Given the description of an element on the screen output the (x, y) to click on. 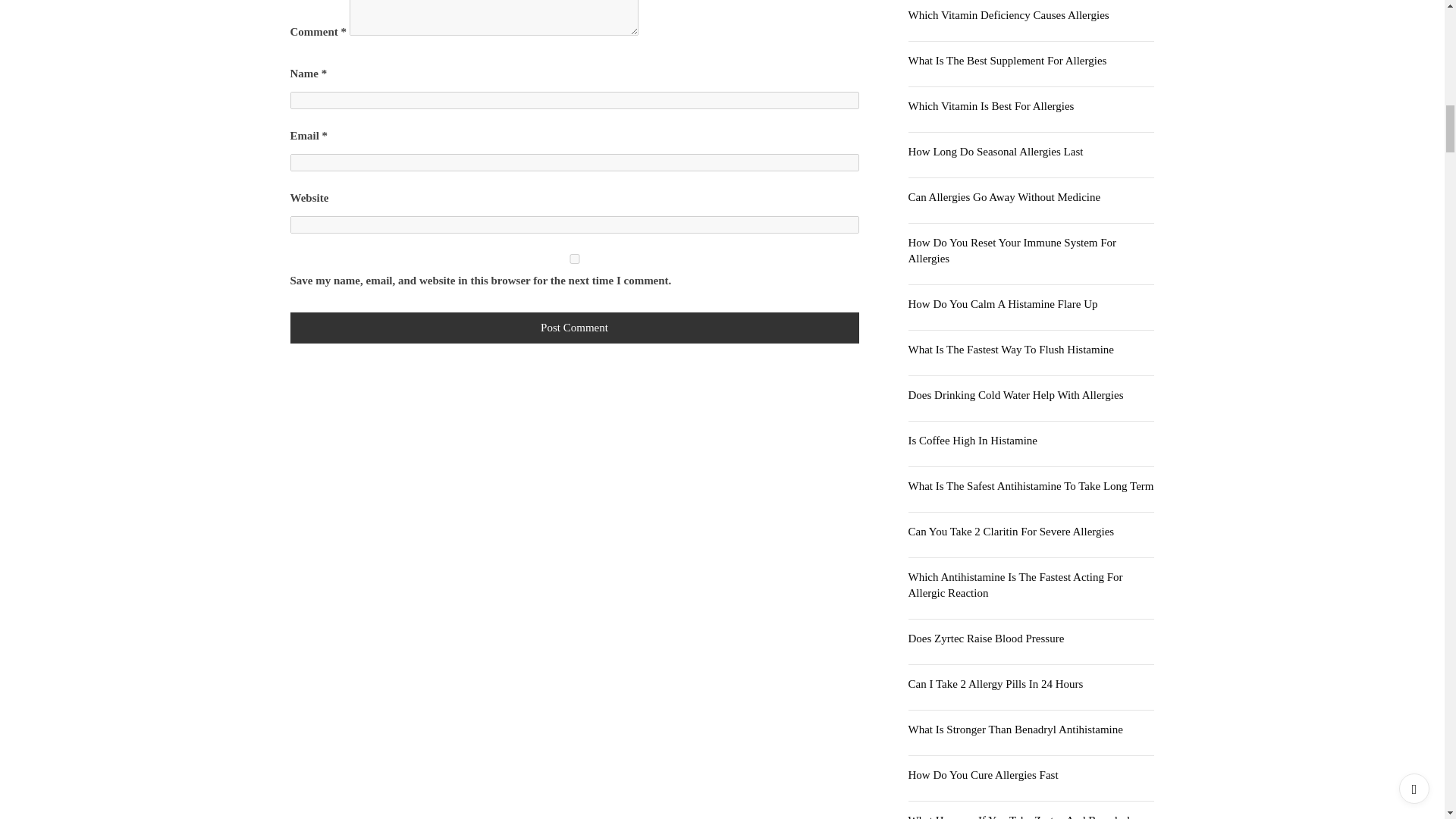
yes (574, 258)
Post Comment (574, 327)
